Given the description of an element on the screen output the (x, y) to click on. 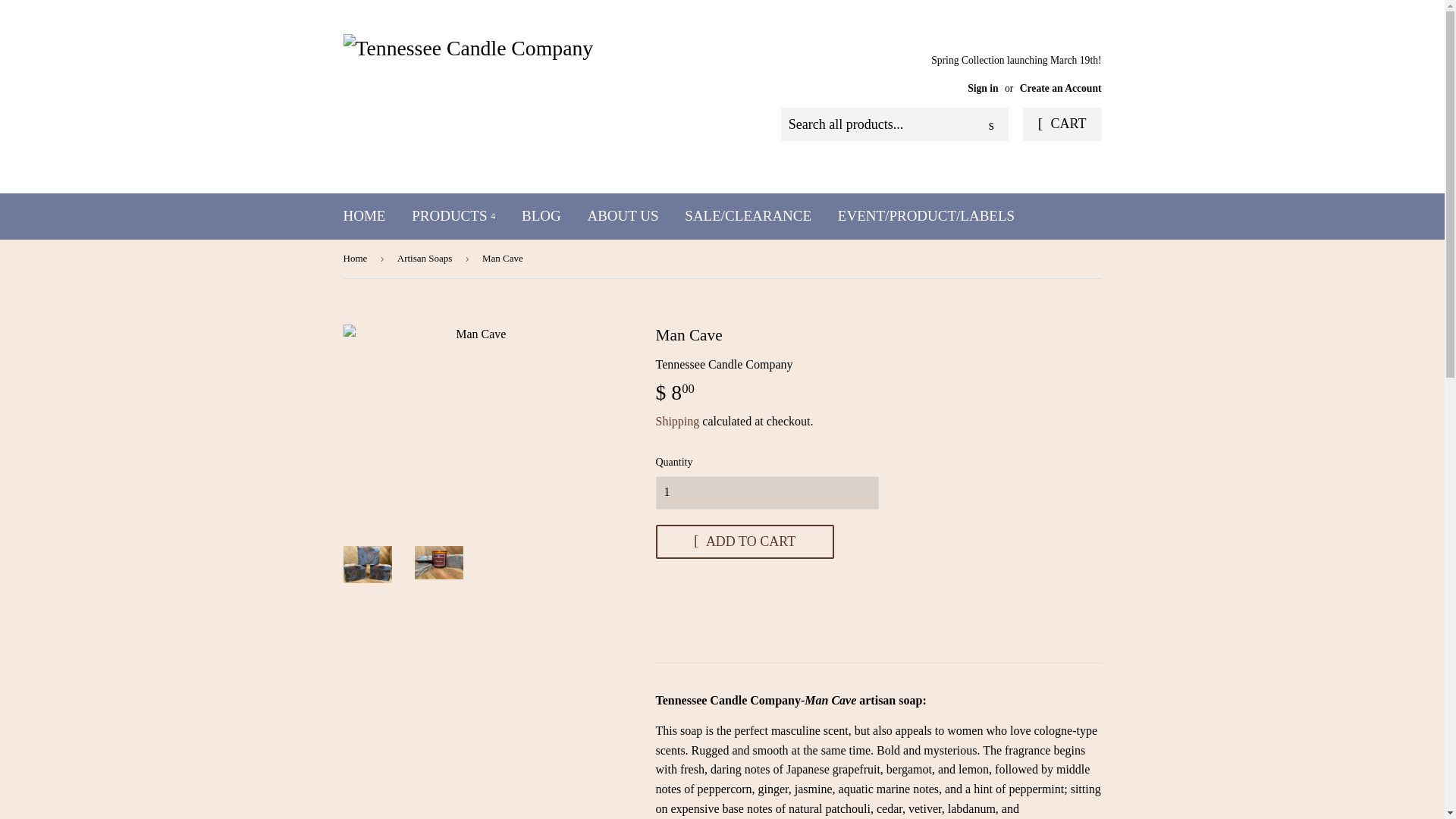
CART (1062, 123)
Create an Account (1061, 88)
Sign in (982, 88)
1 (766, 492)
Search (991, 124)
